Given the description of an element on the screen output the (x, y) to click on. 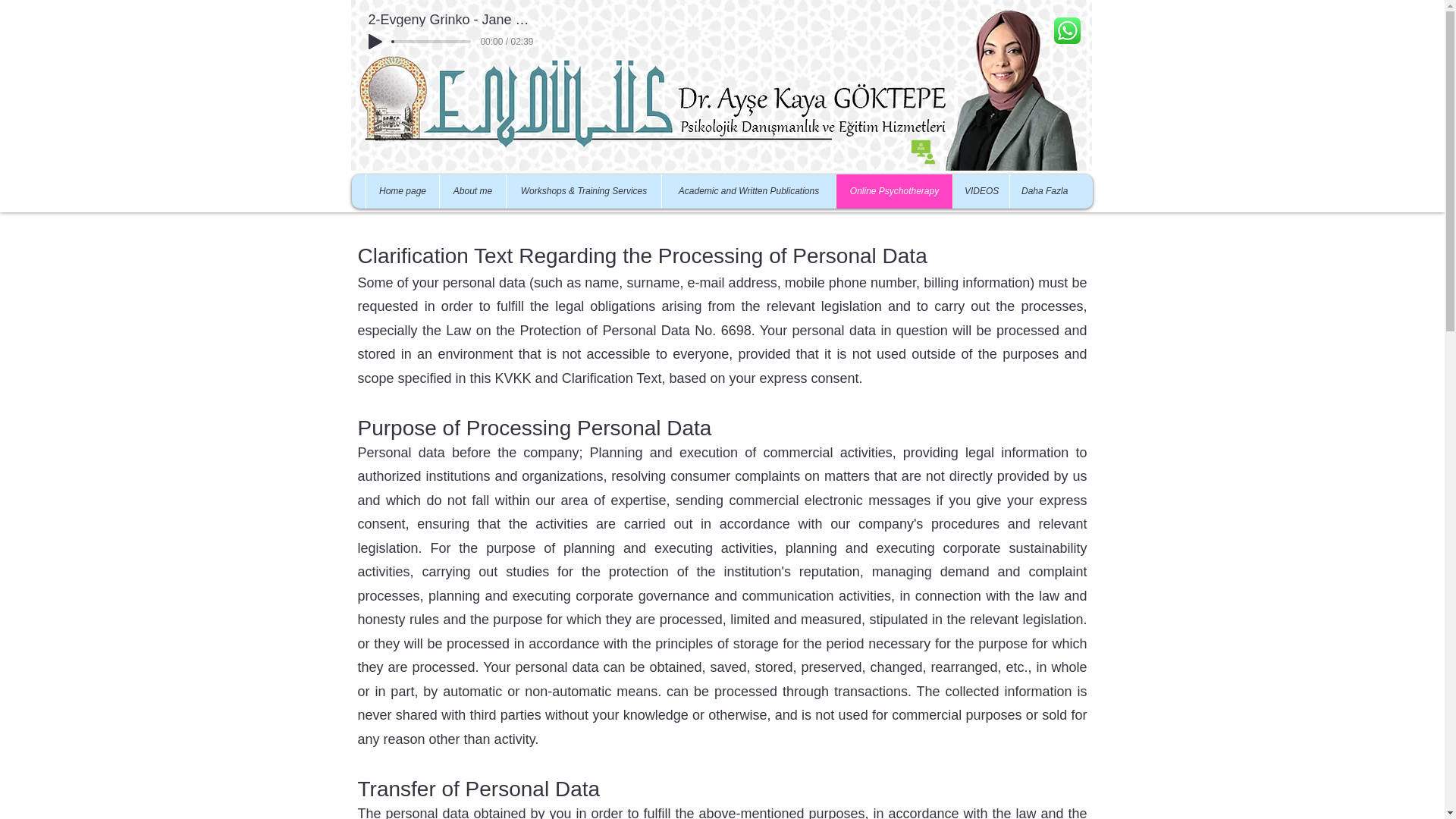
Academic and Written Publications (748, 191)
VIDEOS (980, 191)
0 (432, 41)
About me (472, 191)
Online Psychotherapy (893, 191)
Home page (402, 191)
